Given the description of an element on the screen output the (x, y) to click on. 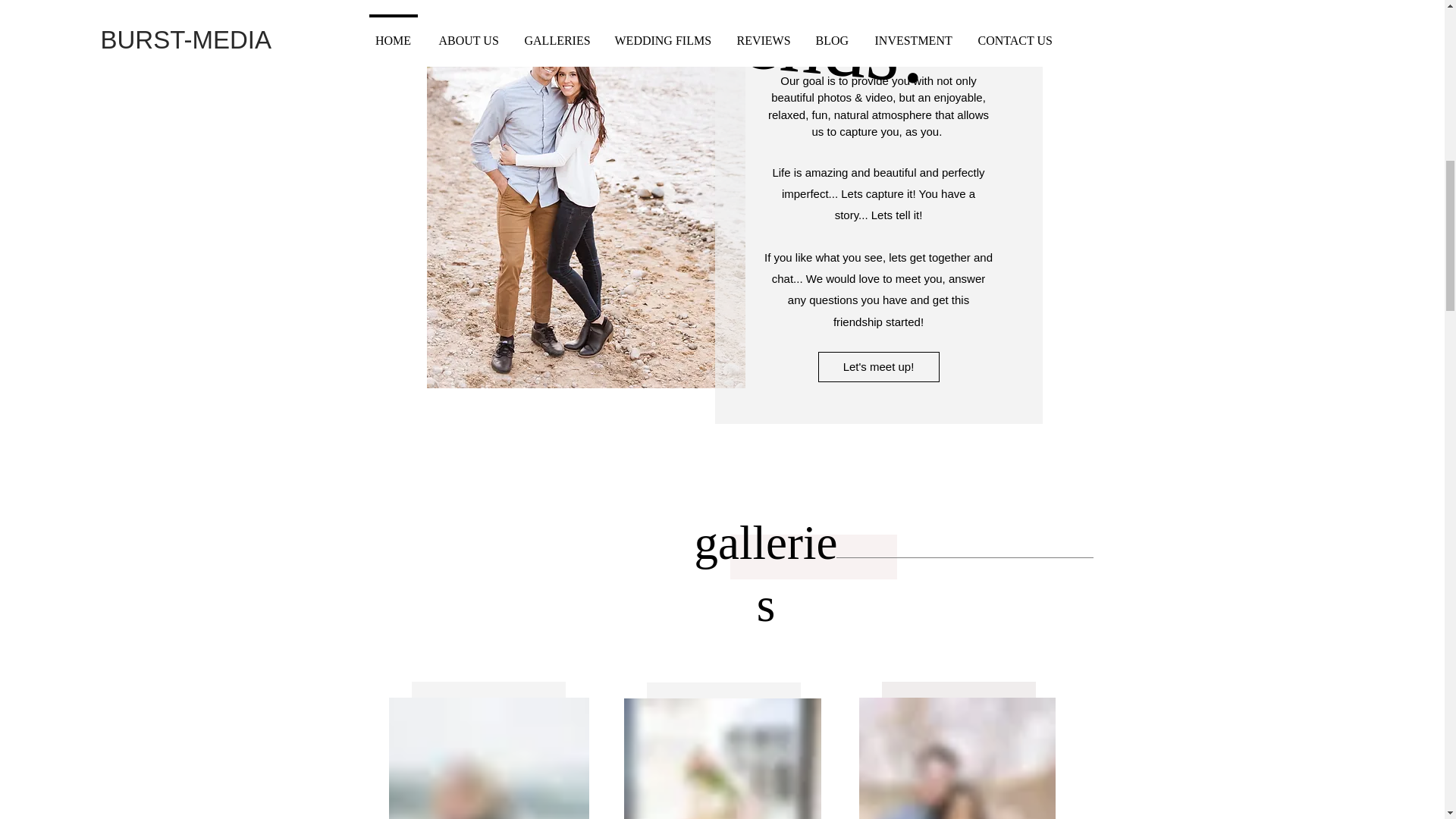
Let's meet up! (877, 367)
